Given the description of an element on the screen output the (x, y) to click on. 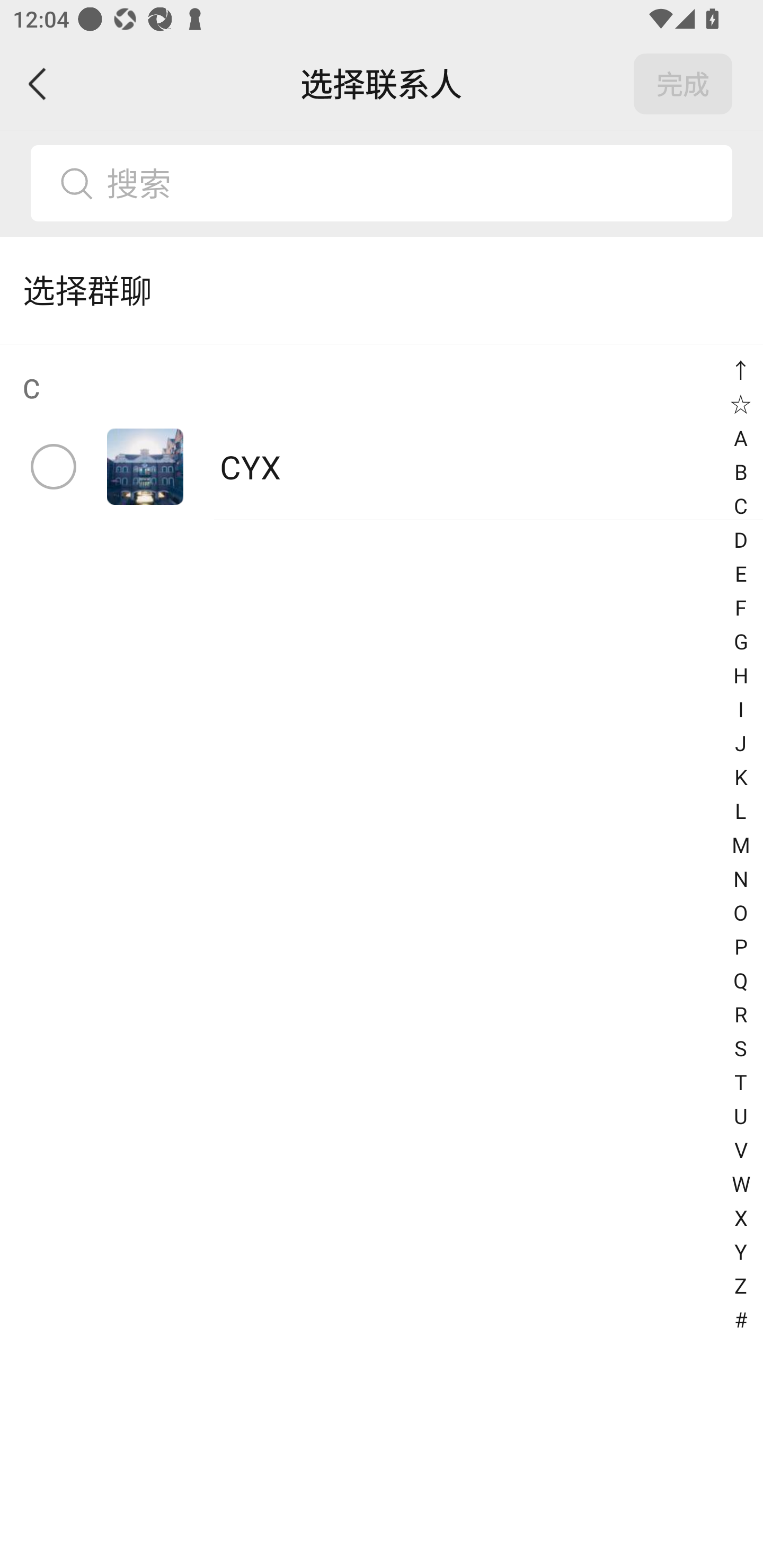
返回 (38, 83)
完成 (683, 83)
搜索 (381, 183)
搜索 (411, 183)
选择群聊 (381, 290)
C CYX (381, 432)
